Given the description of an element on the screen output the (x, y) to click on. 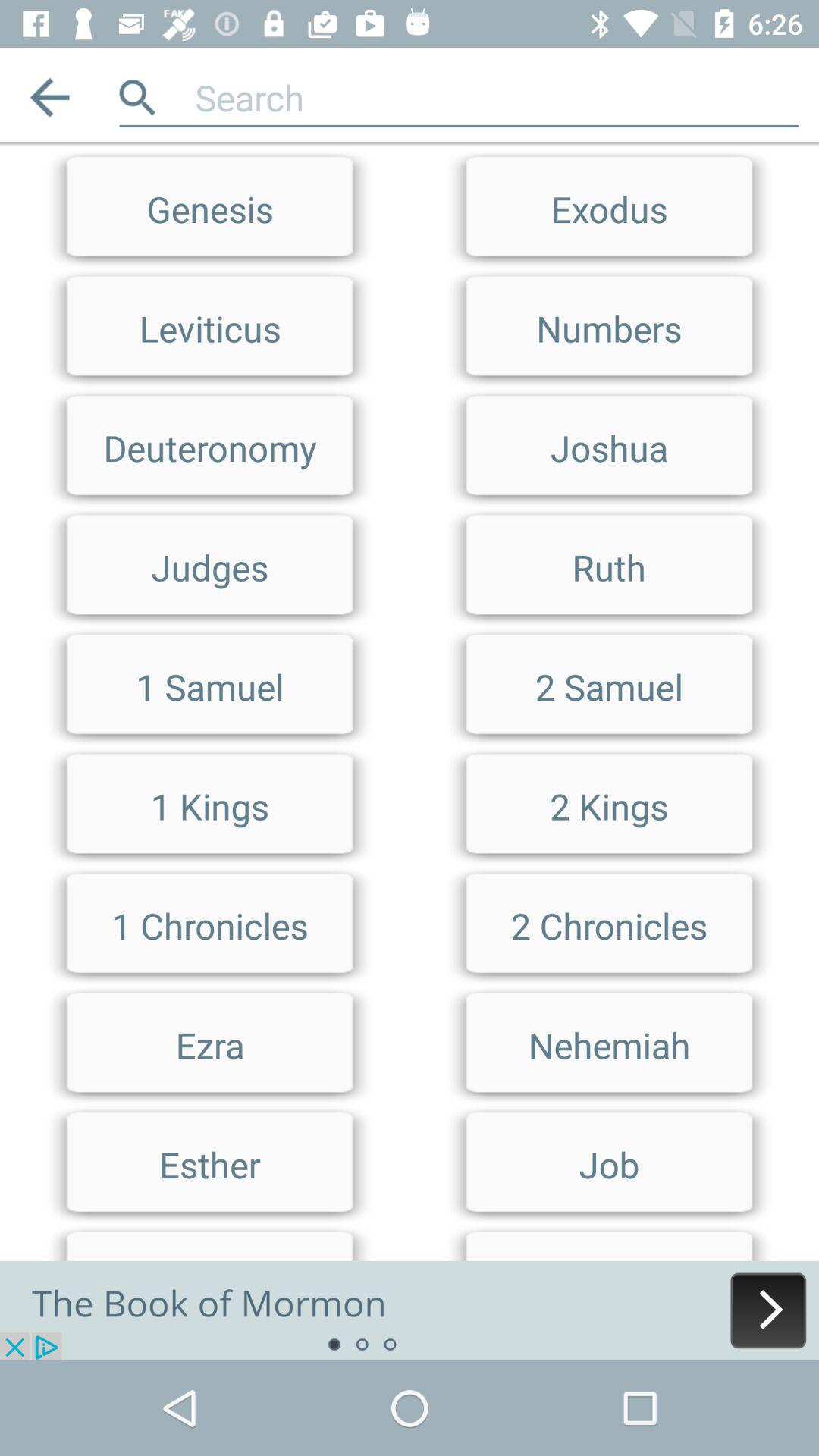
go back (49, 97)
